Given the description of an element on the screen output the (x, y) to click on. 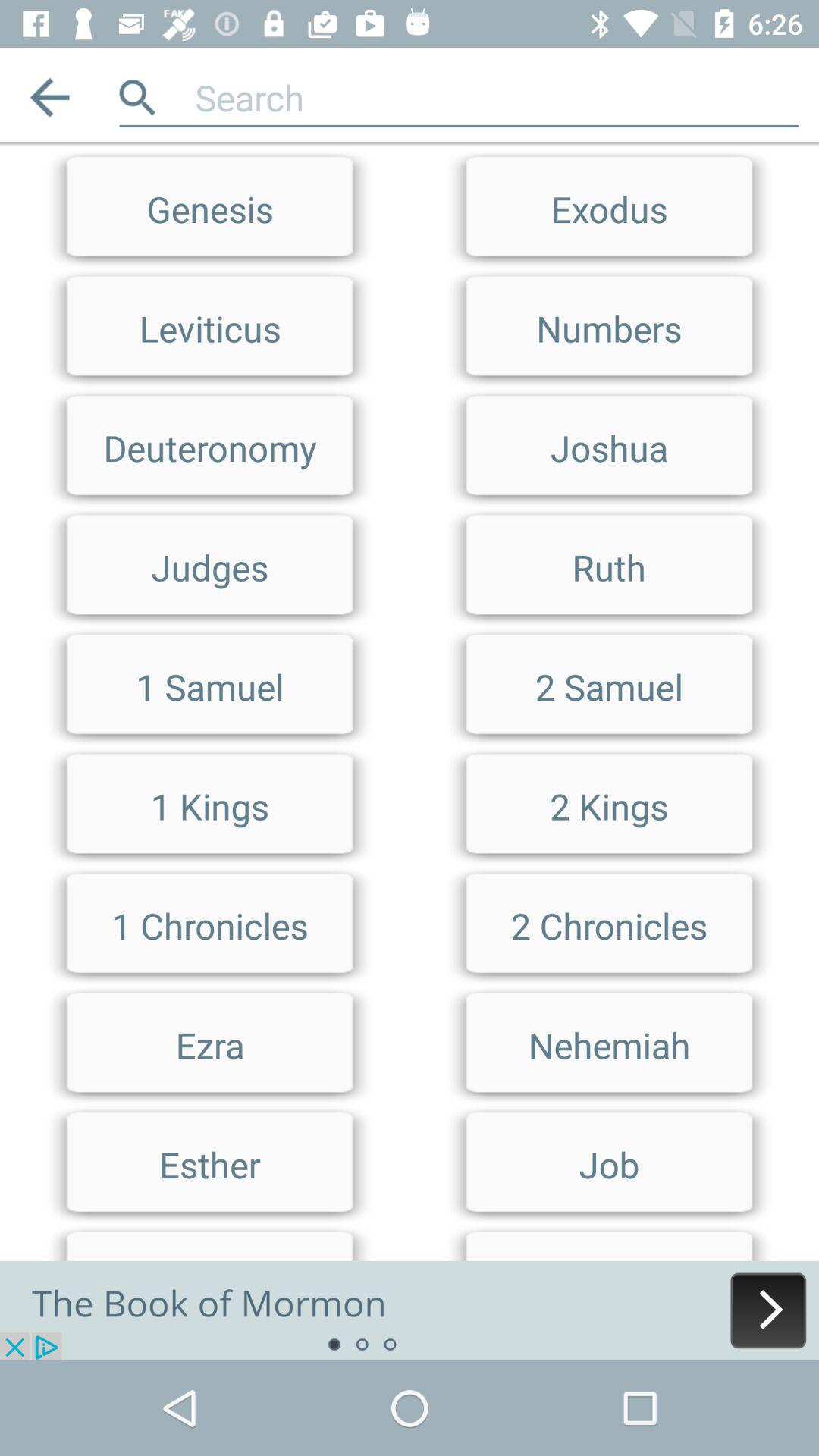
go back (49, 97)
